Given the description of an element on the screen output the (x, y) to click on. 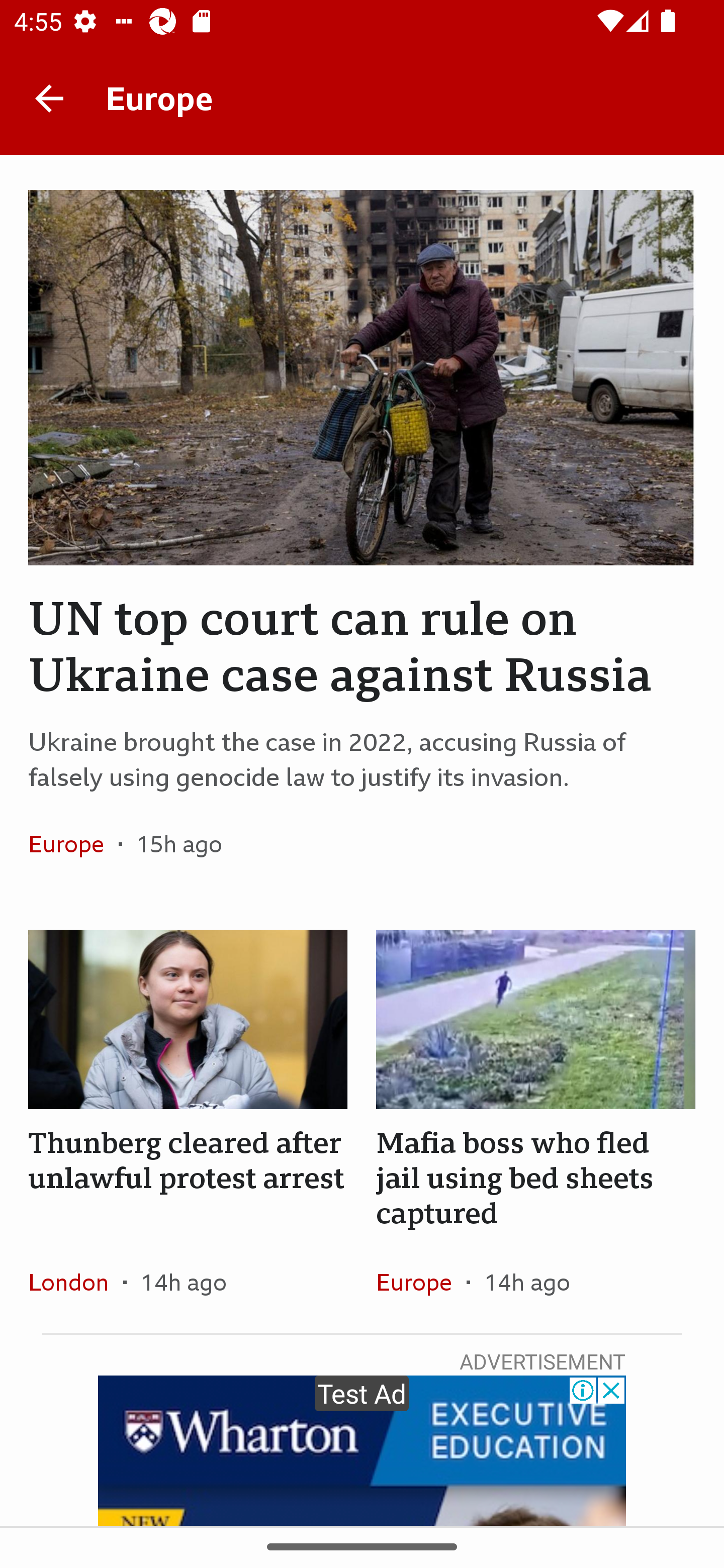
Back (49, 97)
Europe In the section Europe (73, 844)
London In the section London (75, 1281)
Europe In the section Europe (420, 1281)
Advertisement (361, 1450)
